Given the description of an element on the screen output the (x, y) to click on. 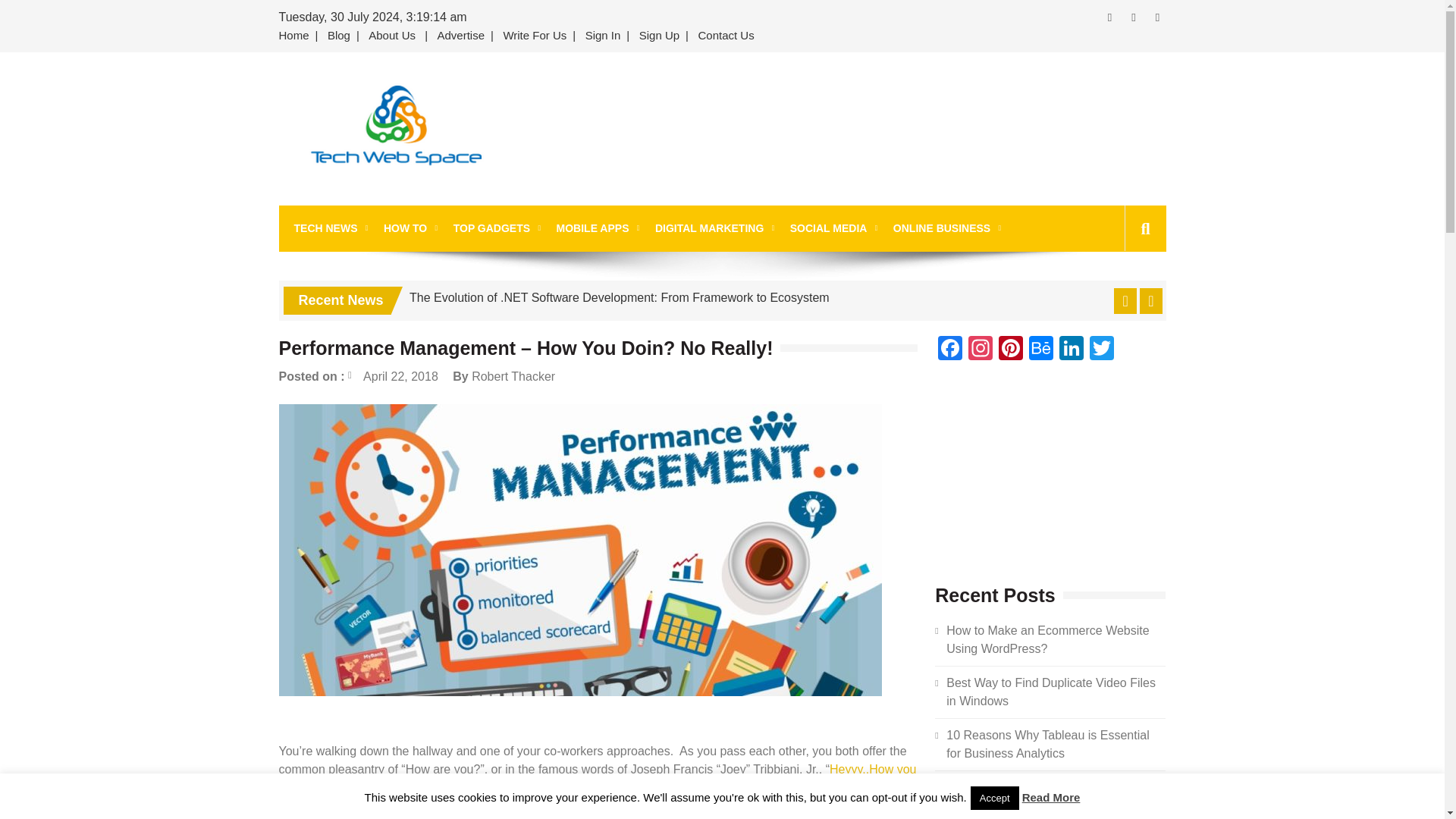
Instagram (980, 349)
Pinterest (1010, 349)
Home (297, 36)
About Us (392, 36)
Sign Up (659, 36)
Contact Us (725, 36)
Blog (338, 36)
Behance (1041, 349)
Sign In (603, 36)
Write For Us (534, 36)
Advertise (460, 36)
Advertisement (861, 128)
Posts by Robert Thacker (512, 376)
Facebook (949, 349)
